Given the description of an element on the screen output the (x, y) to click on. 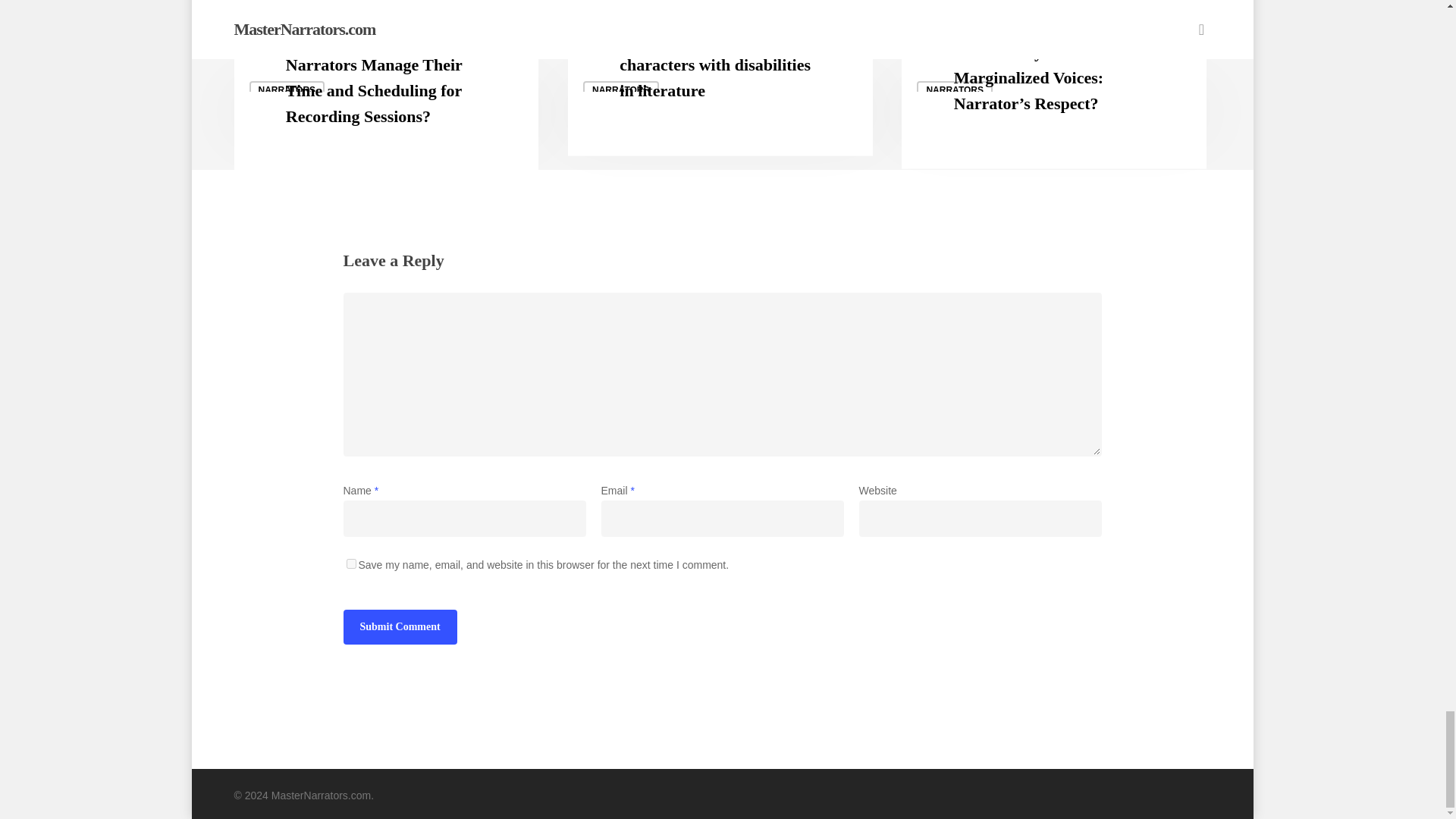
NARRATORS (286, 90)
Submit Comment (399, 626)
Submit Comment (399, 626)
NARRATORS (954, 90)
NARRATORS (621, 90)
yes (350, 563)
